Given the description of an element on the screen output the (x, y) to click on. 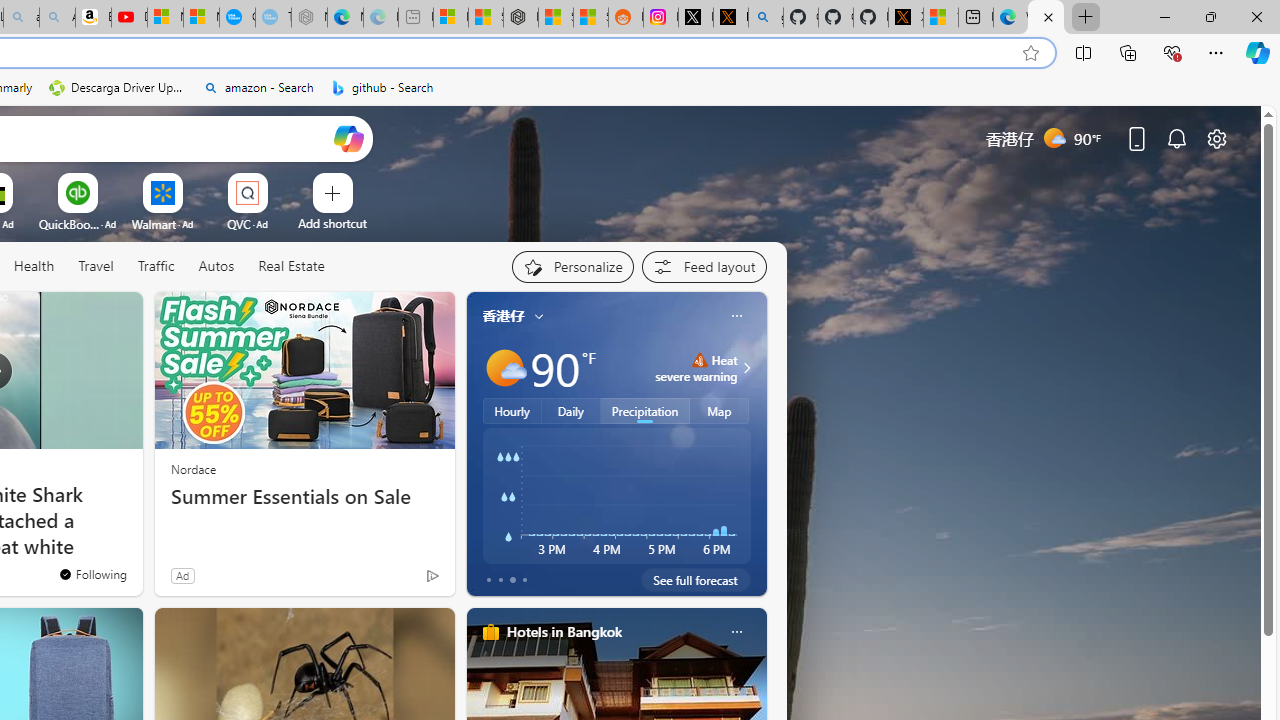
Health (34, 265)
Traffic (155, 265)
Day 1: Arriving in Yemen (surreal to be here) - YouTube (129, 17)
Close (1256, 16)
Heat - Severe Heat severe warning (696, 367)
help.x.com | 524: A timeout occurred (730, 17)
Shanghai, China Weather trends | Microsoft Weather (590, 17)
Autos (216, 267)
amazon - Search (258, 88)
Copilot (Ctrl+Shift+.) (1258, 52)
The most popular Google 'how to' searches - Sleeping (273, 17)
